Given the description of an element on the screen output the (x, y) to click on. 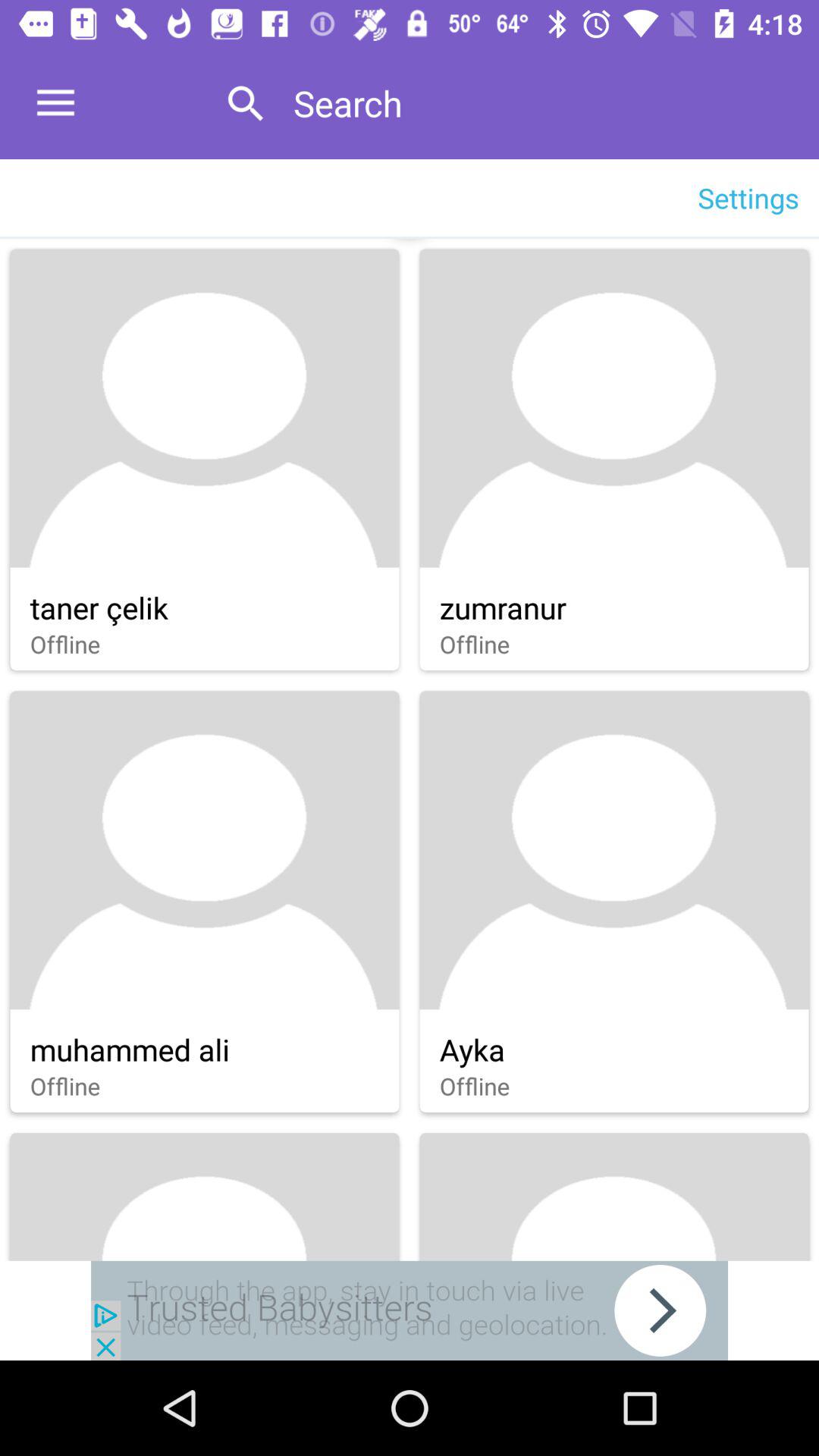
click on settings (748, 196)
click on the profile zumranur (614, 458)
select search which is at top of the page (540, 102)
select the image which is above the text ayka (614, 849)
